Given the description of an element on the screen output the (x, y) to click on. 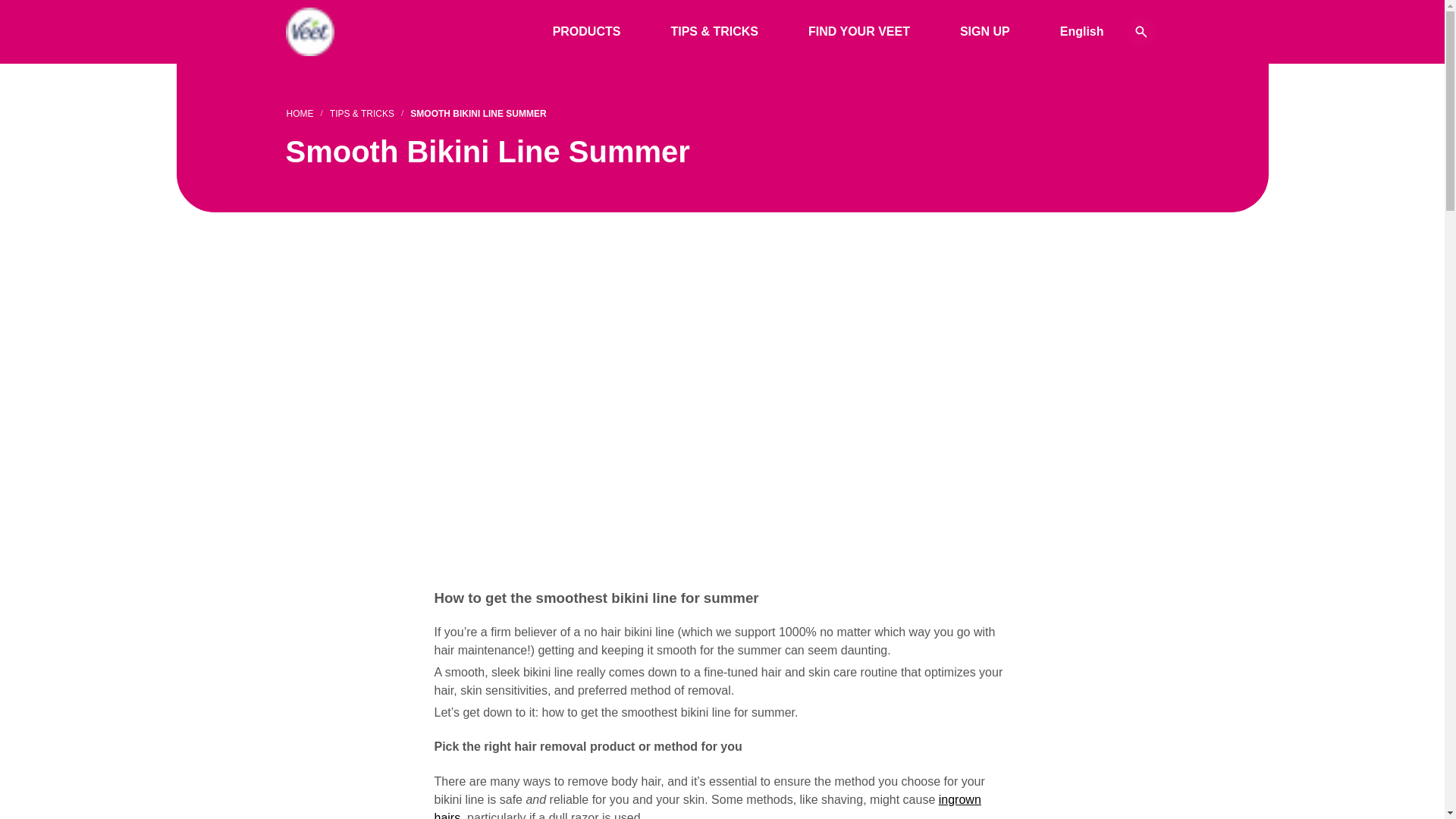
Veet (309, 31)
FIND YOUR VEET (859, 31)
SMOOTH BIKINI LINE SUMMER (478, 113)
SIGN UP (984, 31)
PRODUCTS (586, 31)
HOME (299, 113)
ingrown hairs (706, 806)
English (1082, 31)
